Given the description of an element on the screen output the (x, y) to click on. 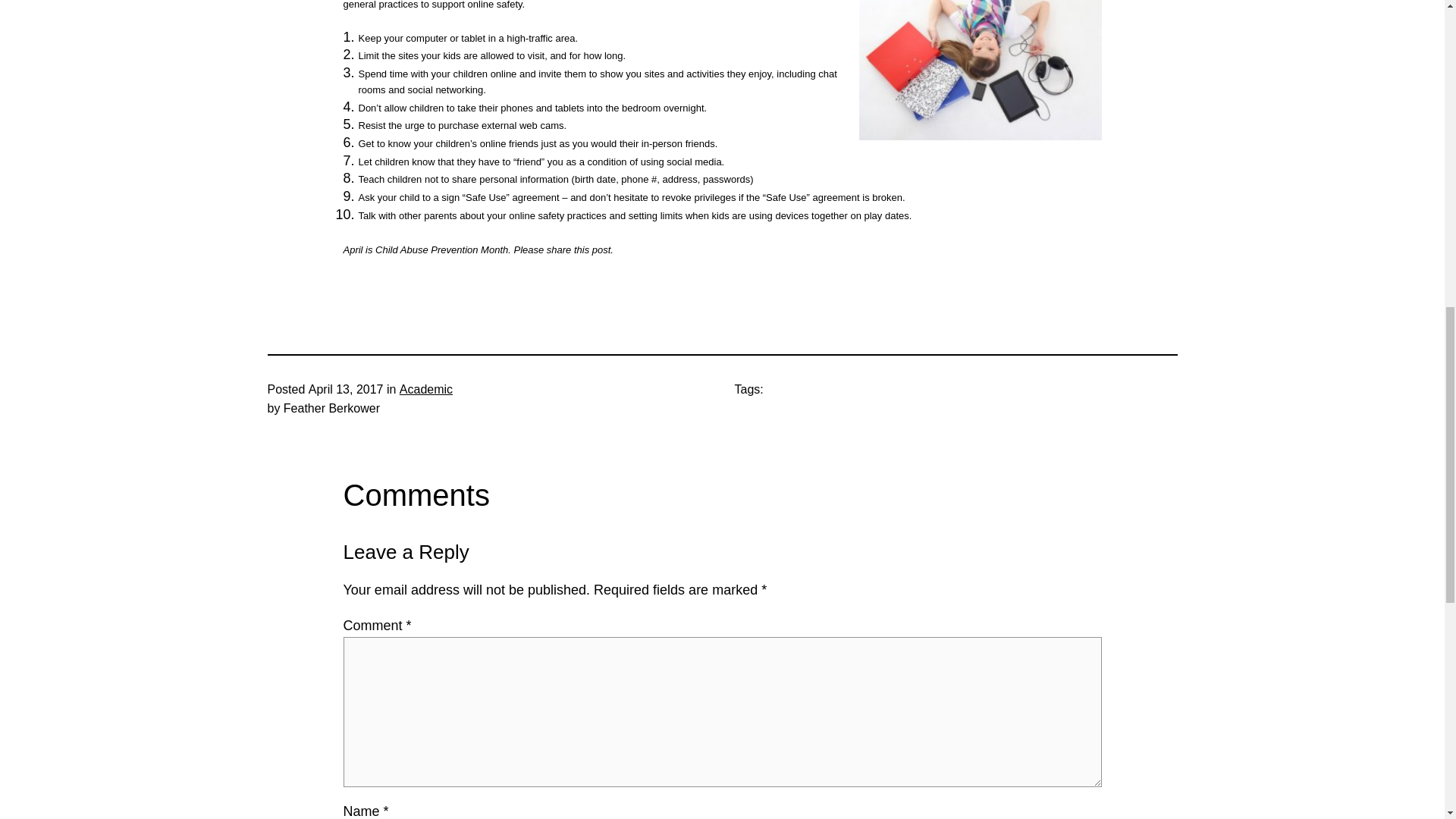
Keeping Kids Safe Online (979, 70)
Academic (425, 389)
